Given the description of an element on the screen output the (x, y) to click on. 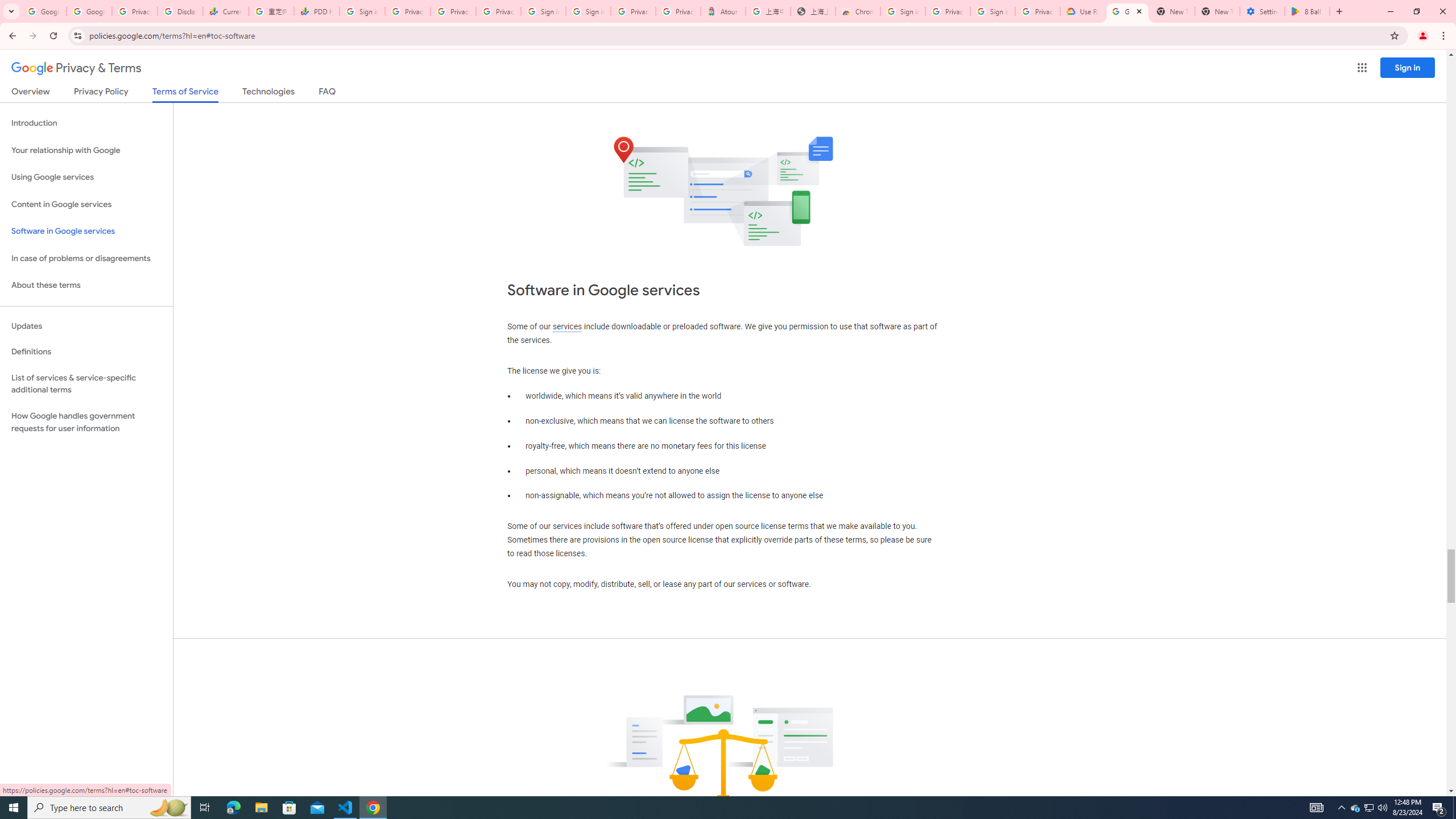
Sign in - Google Accounts (362, 11)
Sign in - Google Accounts (542, 11)
